Given the description of an element on the screen output the (x, y) to click on. 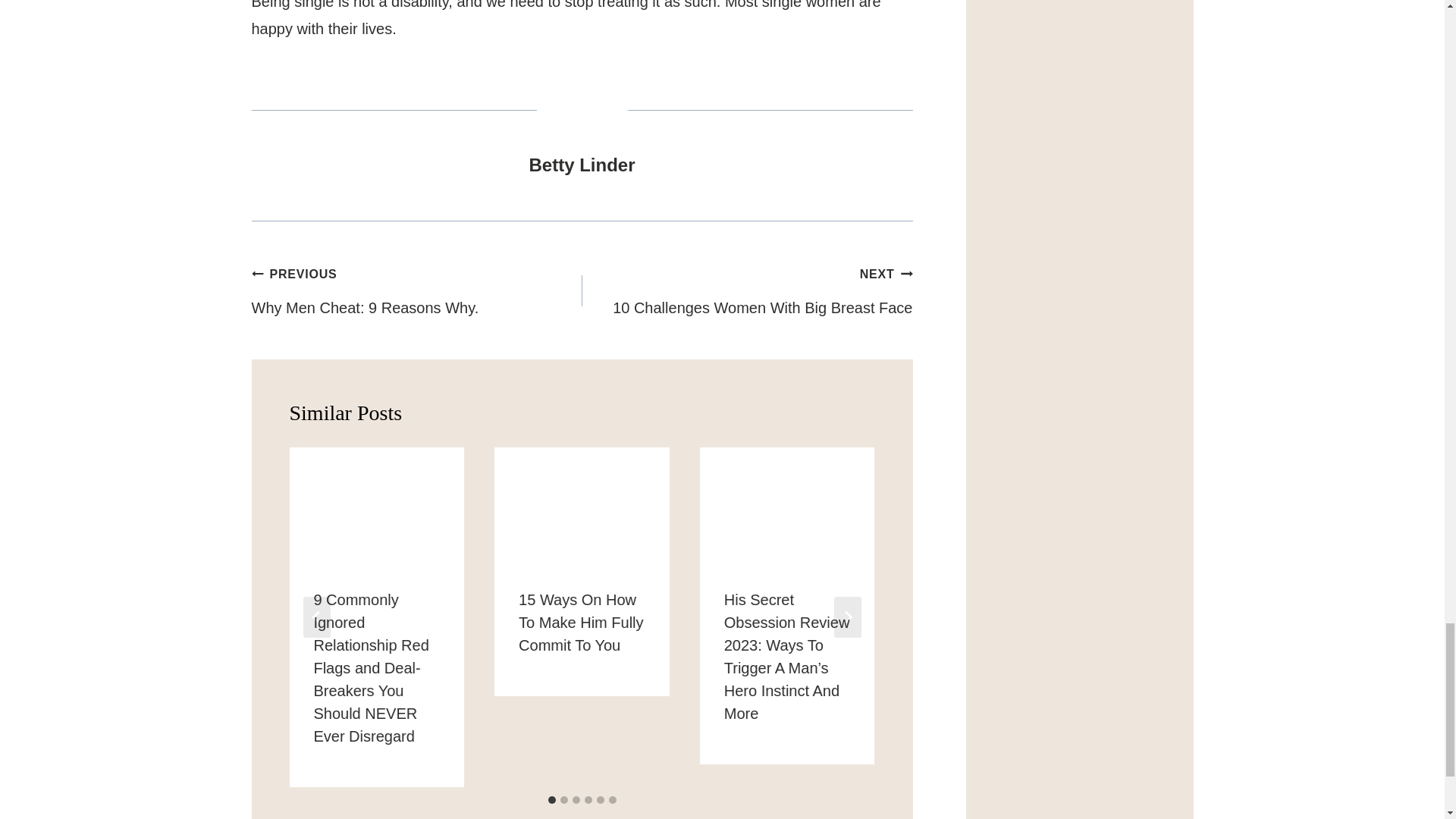
Posts by Betty Linder (581, 164)
